Given the description of an element on the screen output the (x, y) to click on. 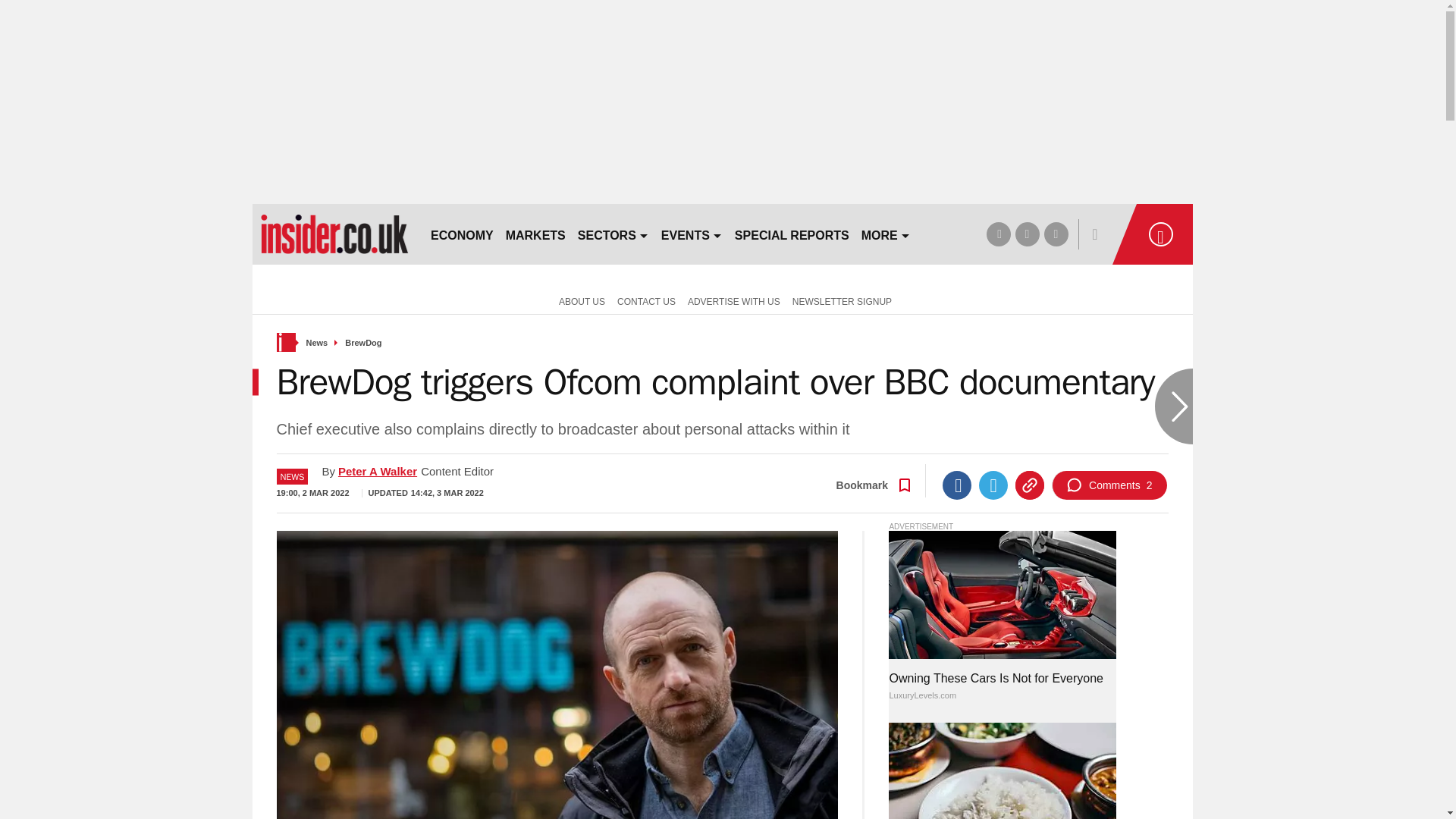
ABOUT US (579, 300)
Twitter (992, 484)
twitter (1026, 233)
CONTACT US (646, 300)
SPECIAL REPORTS (792, 233)
MARKETS (535, 233)
ECONOMY (462, 233)
businessInsider (333, 233)
BrewDog (363, 343)
SECTORS (613, 233)
facebook (997, 233)
linkedin (1055, 233)
Comments (1108, 484)
News (317, 343)
Facebook (956, 484)
